Given the description of an element on the screen output the (x, y) to click on. 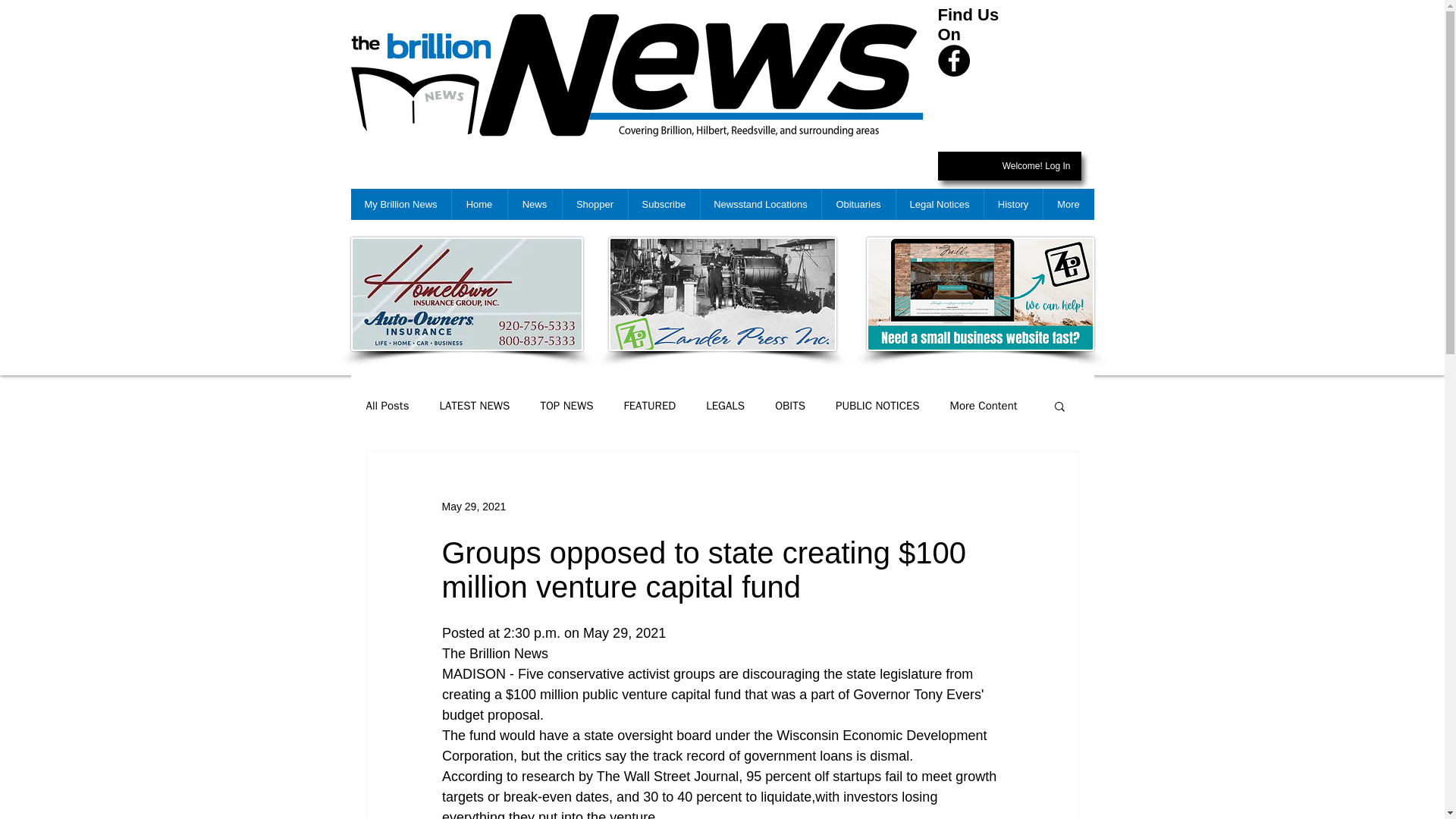
Obituaries (858, 204)
LEGALS (725, 405)
Newsstand Locations (759, 204)
May 29, 2021 (473, 506)
Home (477, 204)
Subscribe (663, 204)
Welcome! Log In (1036, 166)
LATEST NEWS (474, 405)
News (533, 204)
FEATURED (650, 405)
